Given the description of an element on the screen output the (x, y) to click on. 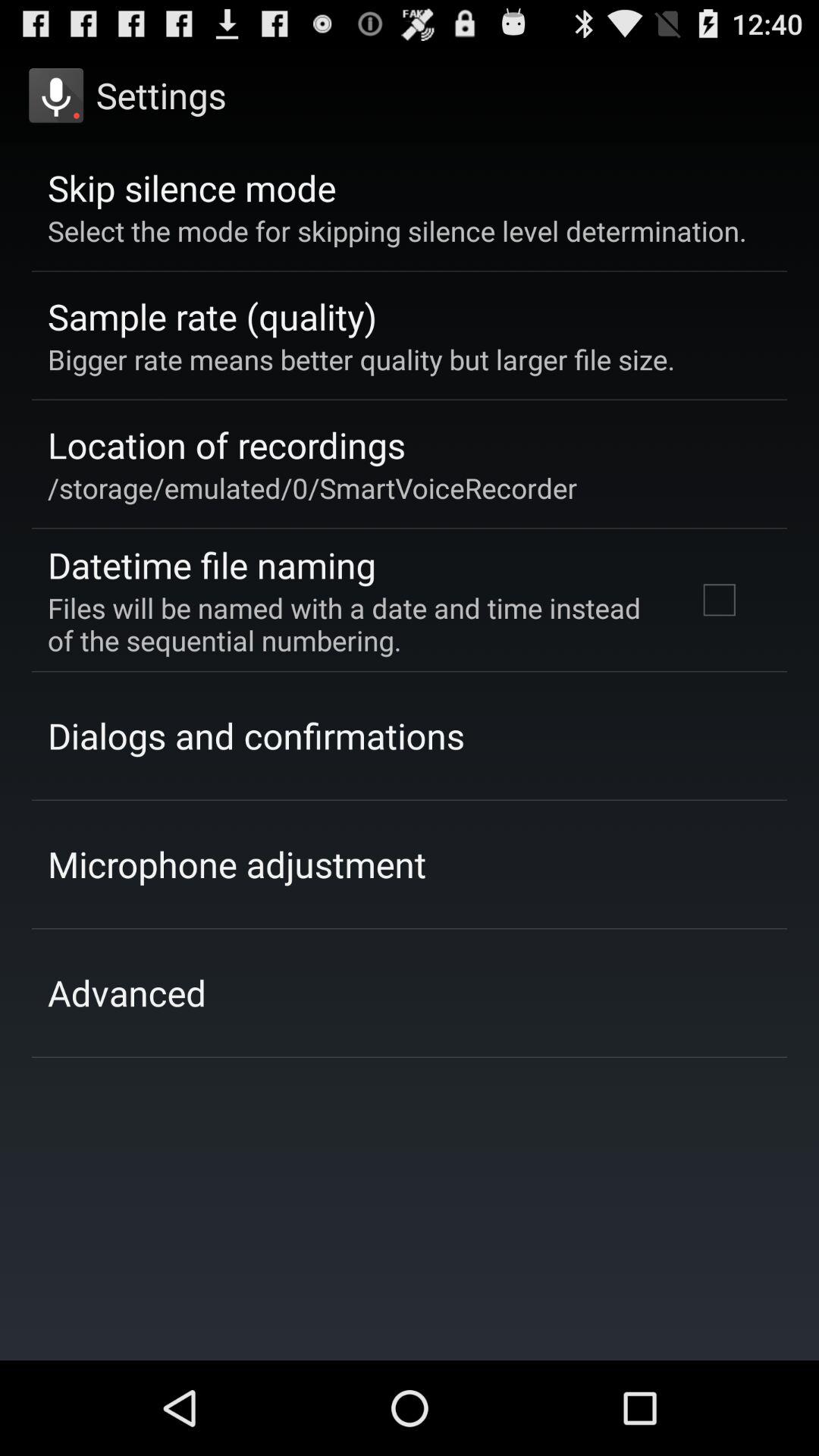
open the icon next to the files will be item (719, 599)
